Given the description of an element on the screen output the (x, y) to click on. 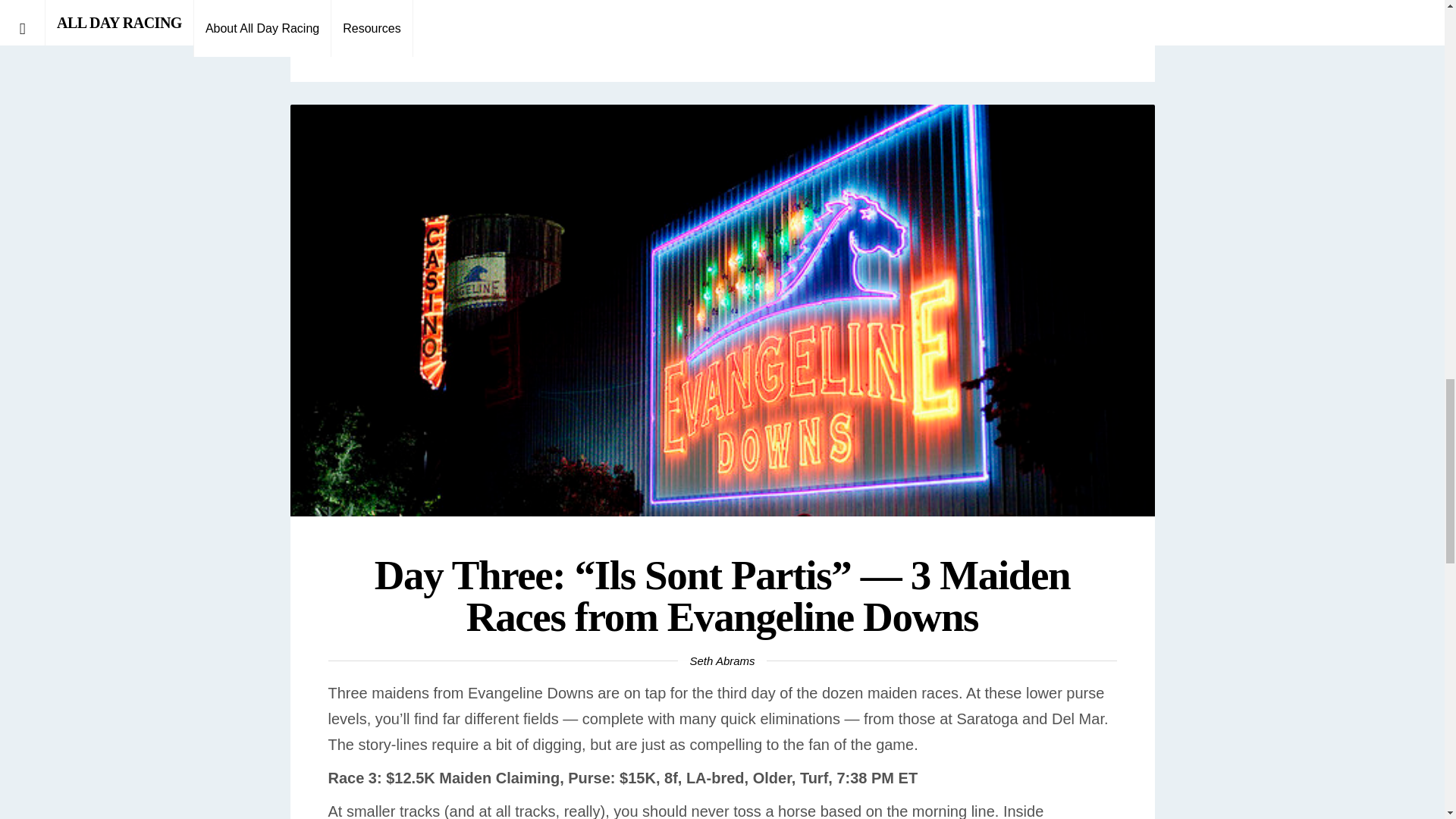
Seth Abrams (721, 660)
Posts by Seth Abrams (721, 660)
